Given the description of an element on the screen output the (x, y) to click on. 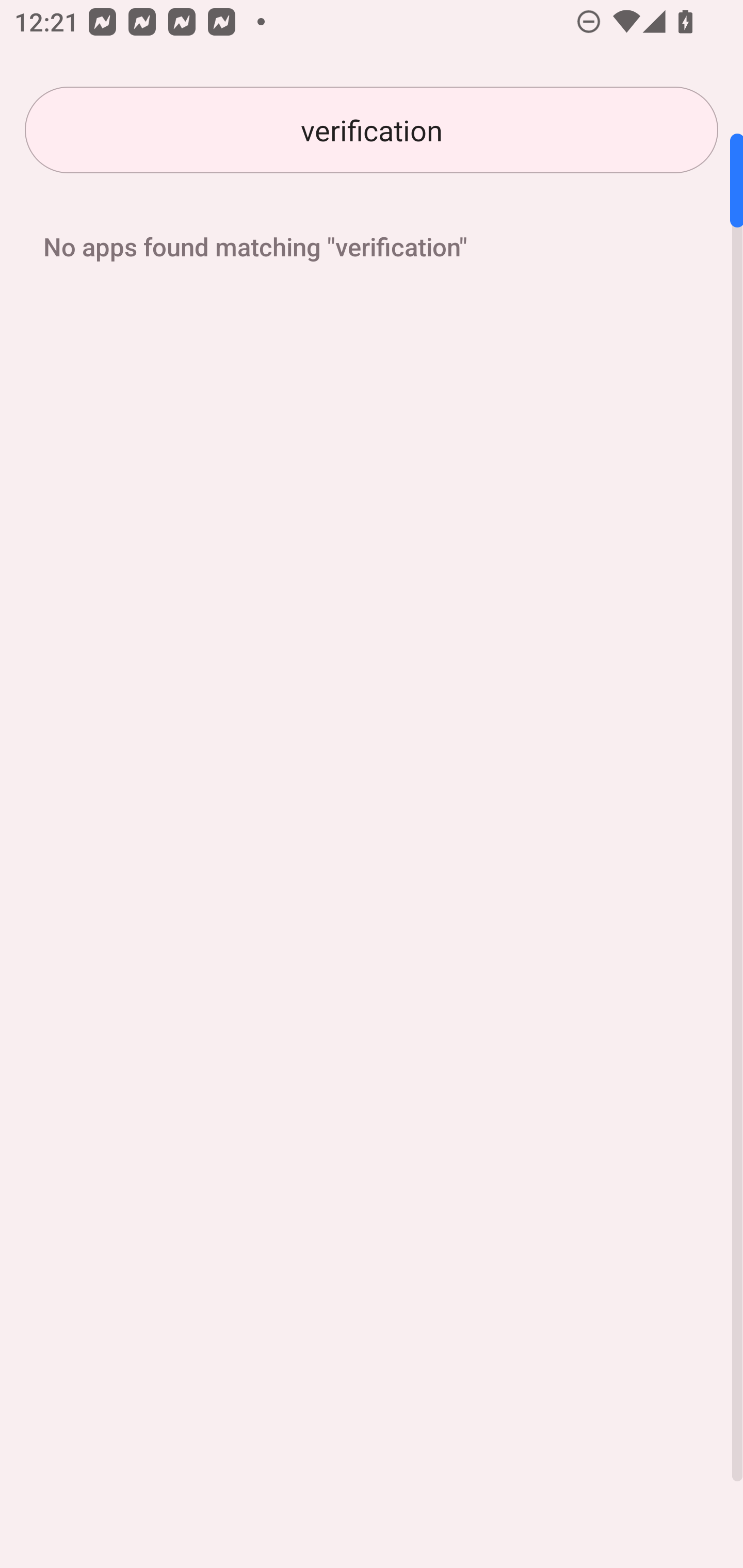
verification (371, 130)
